Given the description of an element on the screen output the (x, y) to click on. 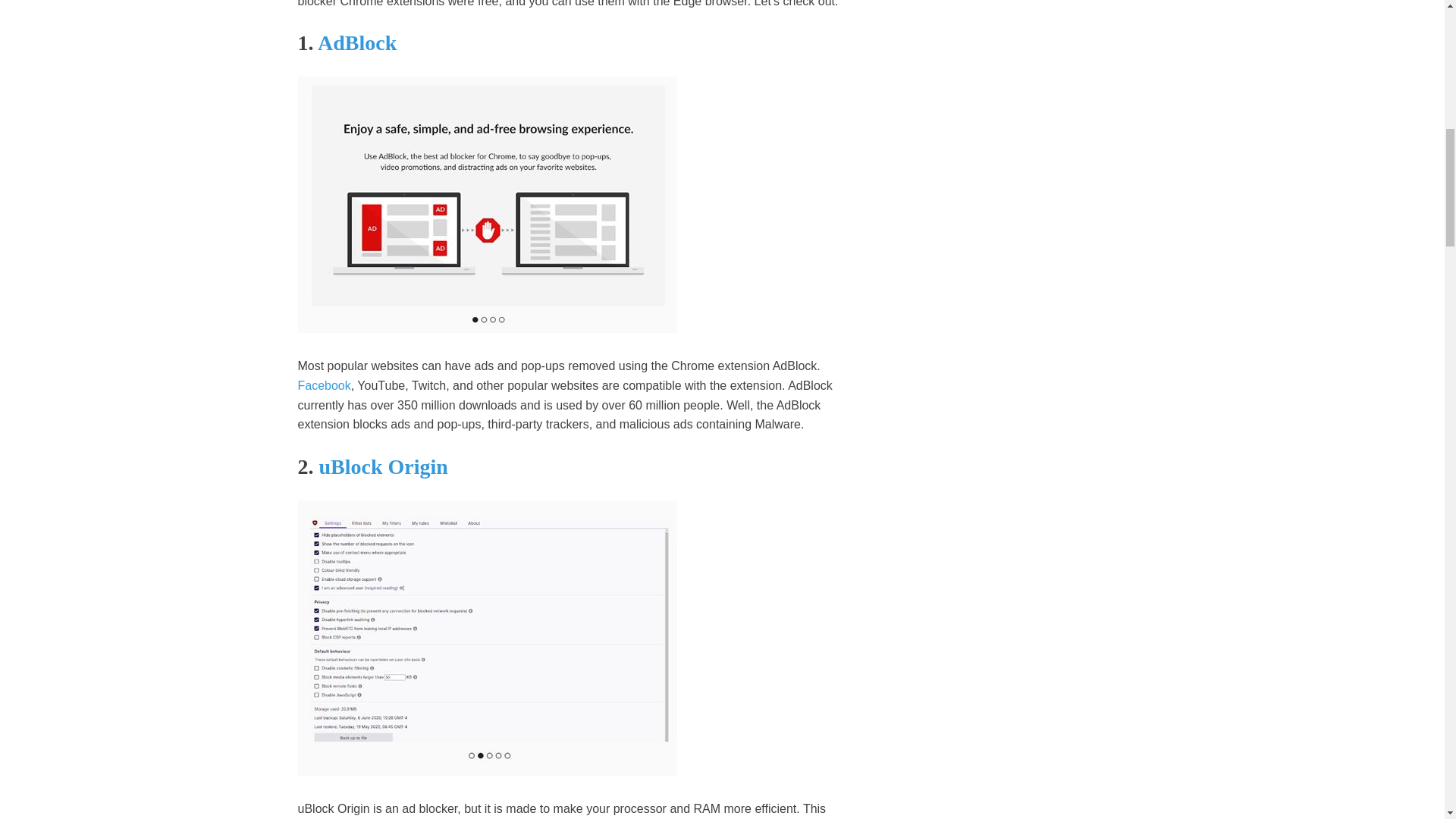
AdBlock (356, 42)
Facebook (323, 385)
uBlock Origin (382, 466)
